Given the description of an element on the screen output the (x, y) to click on. 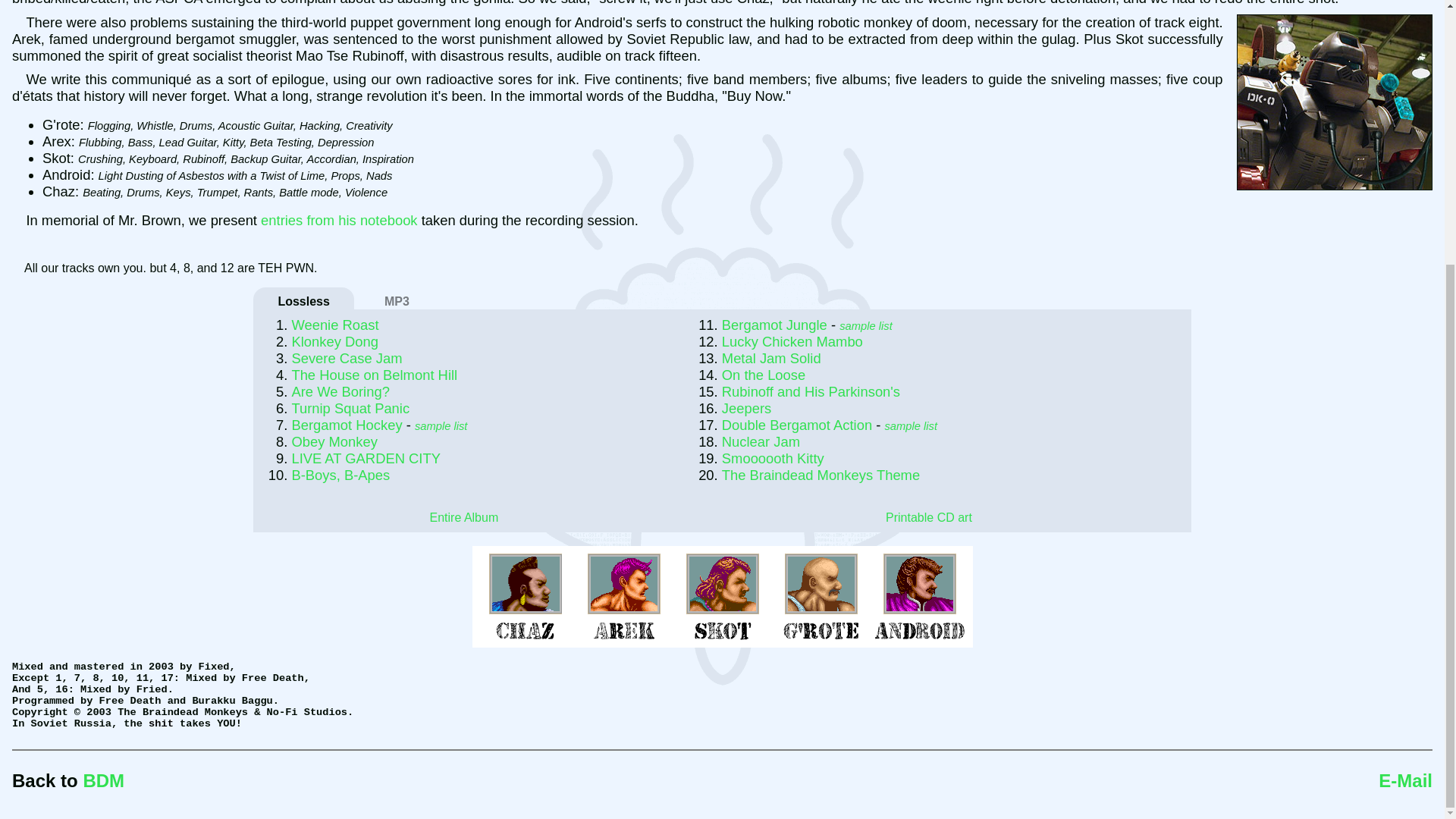
Klonkey Dong (334, 341)
Smoooooth Kitty (773, 458)
Obey Monkey (334, 441)
B-Boys, B-Apes (340, 474)
LIVE AT GARDEN CITY (366, 458)
On the Loose (763, 374)
Jeepers (746, 408)
entries from his notebook (338, 220)
Lucky Chicken Mambo (792, 341)
Nuclear Jam (760, 441)
